Given the description of an element on the screen output the (x, y) to click on. 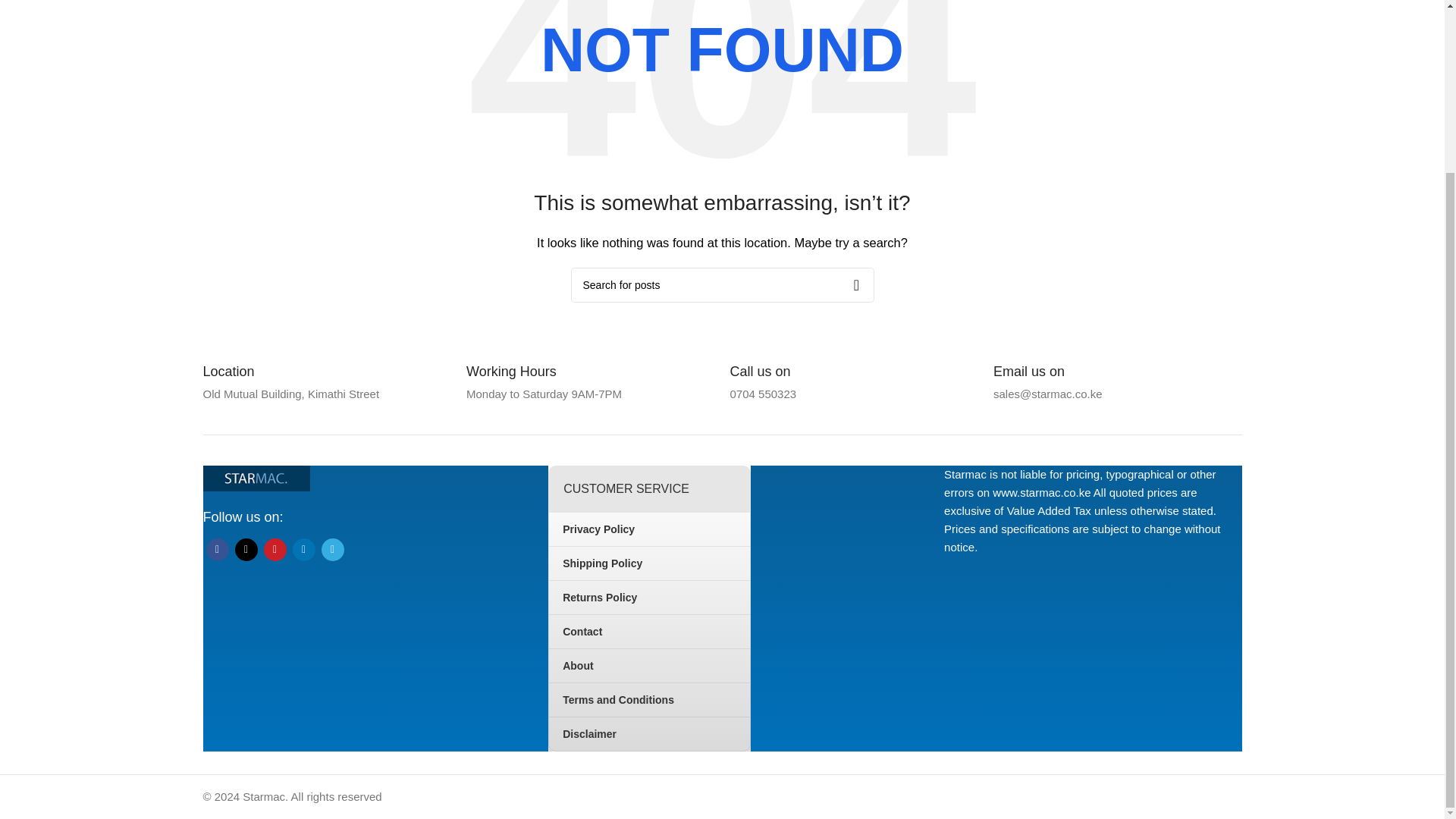
Search for posts (721, 284)
